Given the description of an element on the screen output the (x, y) to click on. 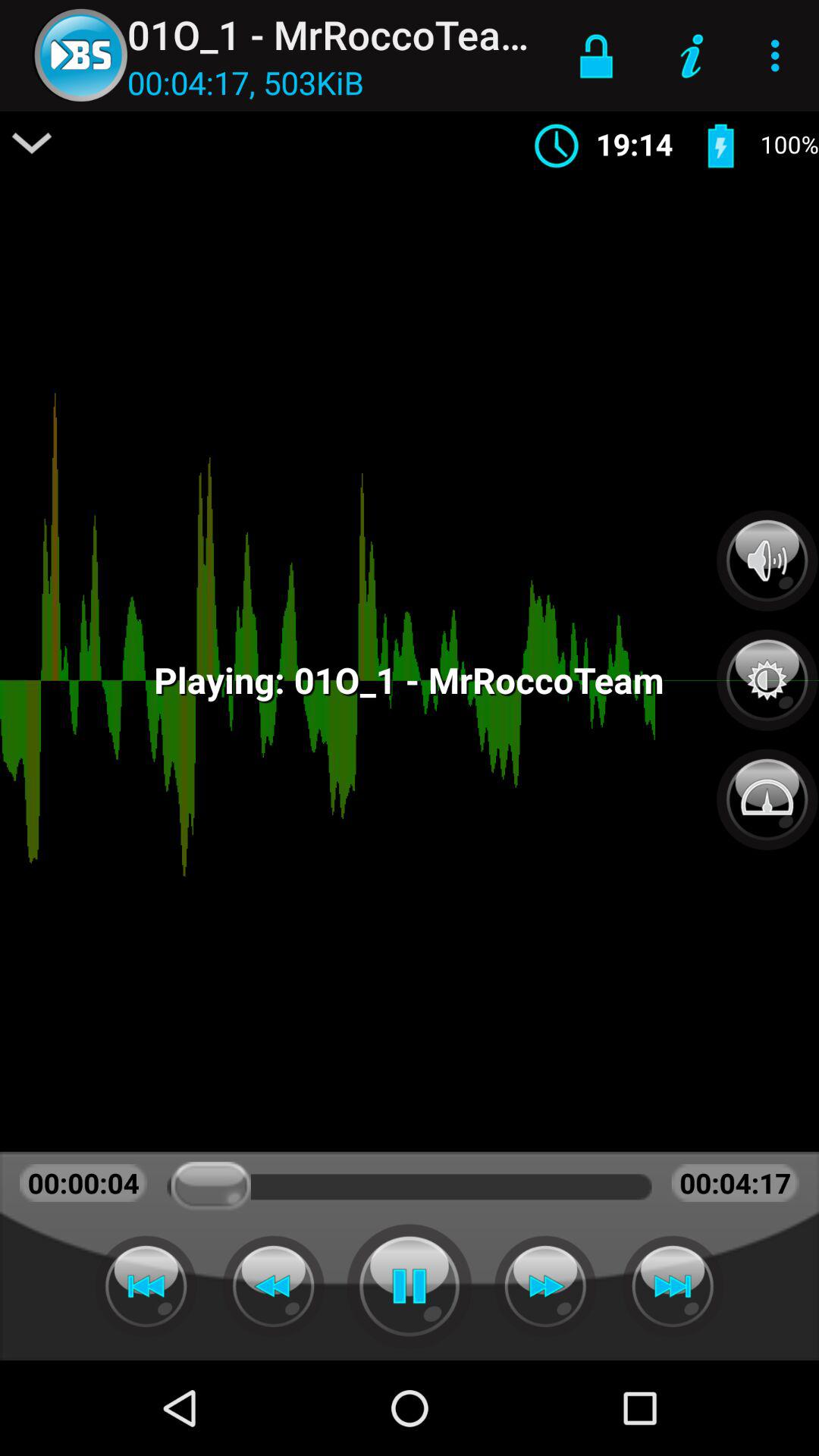
turn on the icon to the left of the 00 04 17 app (31, 143)
